Given the description of an element on the screen output the (x, y) to click on. 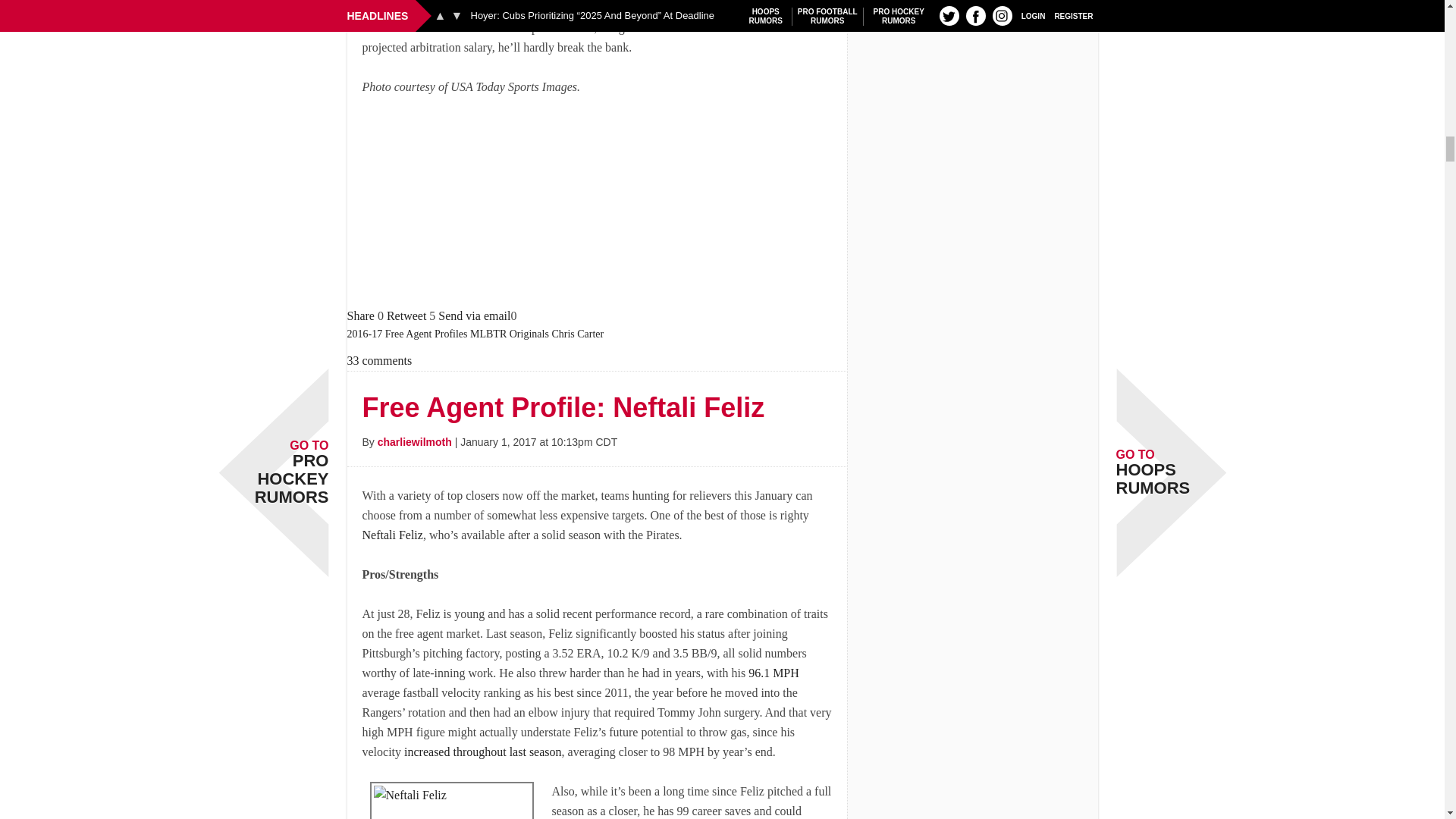
Send Free Agent Profile: Chris Carter with an email (474, 315)
Retweet 'Free Agent Profile: Chris Carter' on Twitter (406, 315)
Share 'Free Agent Profile: Chris Carter' on Facebook (360, 315)
